Given the description of an element on the screen output the (x, y) to click on. 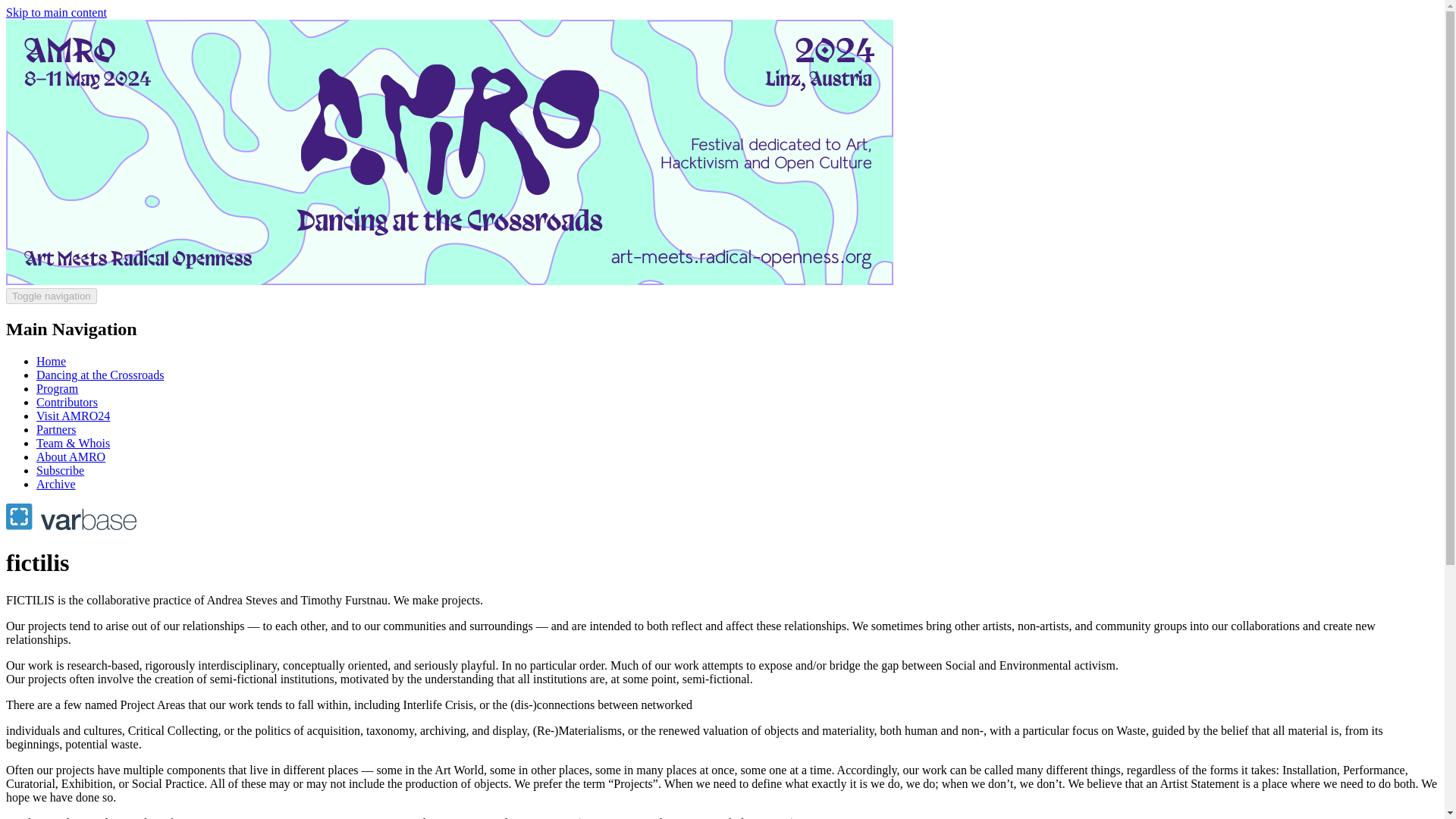
Toggle navigation (51, 295)
AMRO 2024 (449, 280)
Contributors (66, 401)
Subscribe (60, 470)
Visit AMRO24 (73, 415)
Archive (55, 483)
Program (57, 388)
Dancing at the Crossroads (99, 374)
Partners (55, 429)
Home (50, 360)
